Given the description of an element on the screen output the (x, y) to click on. 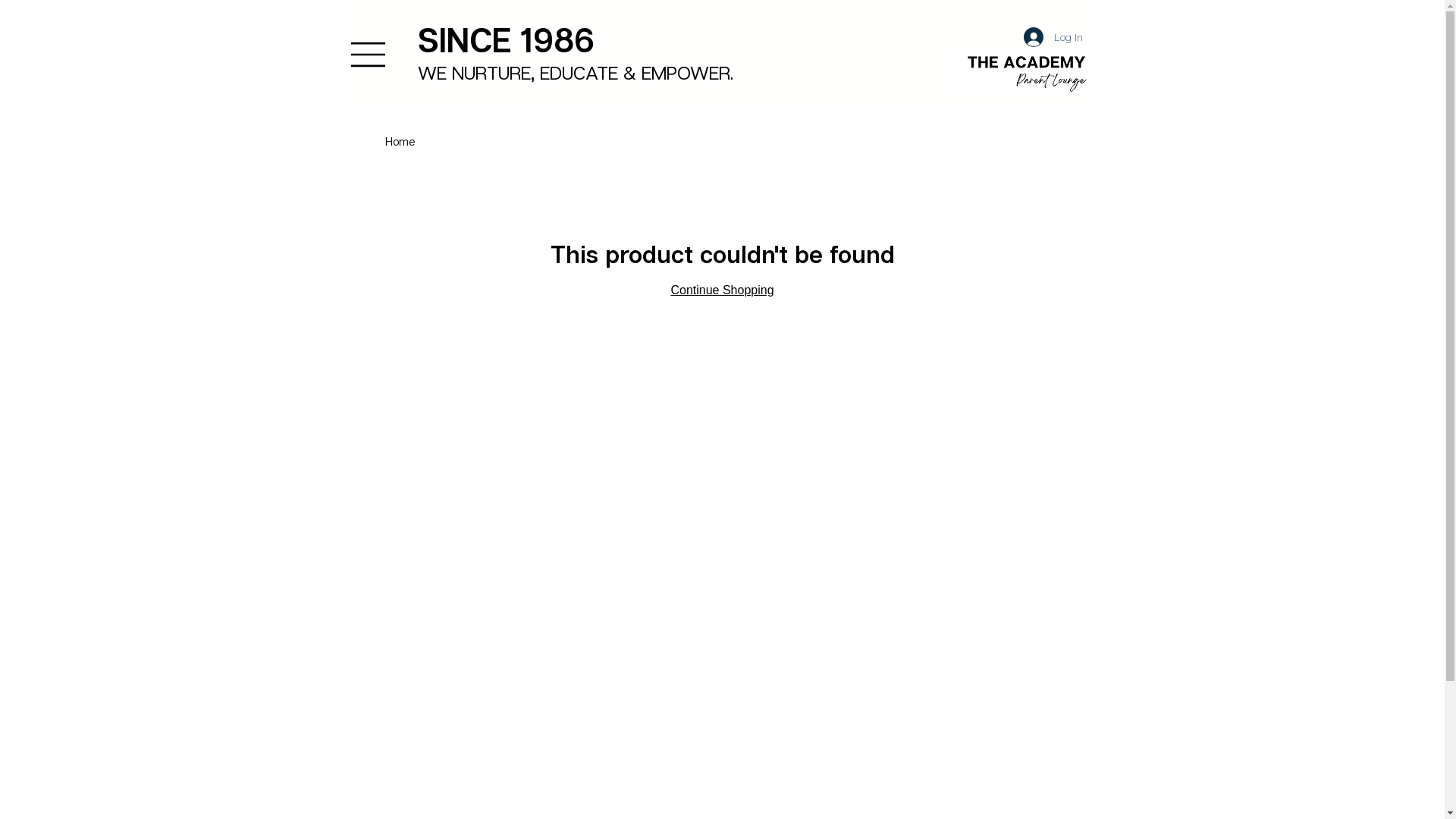
Home Element type: text (399, 140)
Continue Shopping Element type: text (721, 289)
Log In Element type: text (1053, 36)
